Given the description of an element on the screen output the (x, y) to click on. 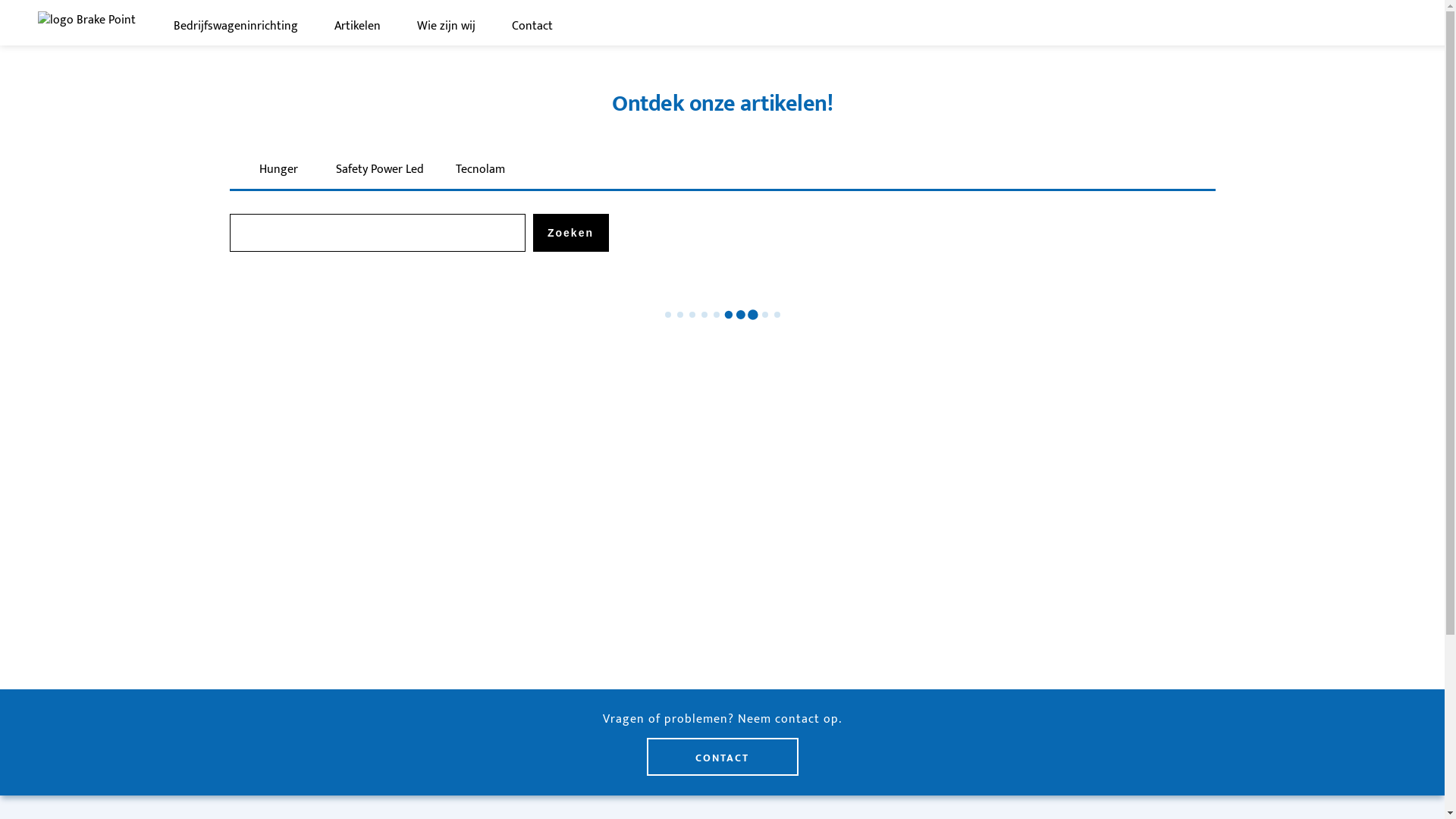
Tecnolam Element type: text (479, 169)
Safety Power Led Element type: text (378, 169)
Wie zijn wij Element type: text (446, 26)
Contact Element type: text (531, 26)
CONTACT Element type: text (721, 756)
Artikelen Element type: text (357, 26)
Zoeken Element type: text (570, 232)
Bedrijfswageninrichting Element type: text (235, 26)
Hunger Element type: text (278, 169)
